Given the description of an element on the screen output the (x, y) to click on. 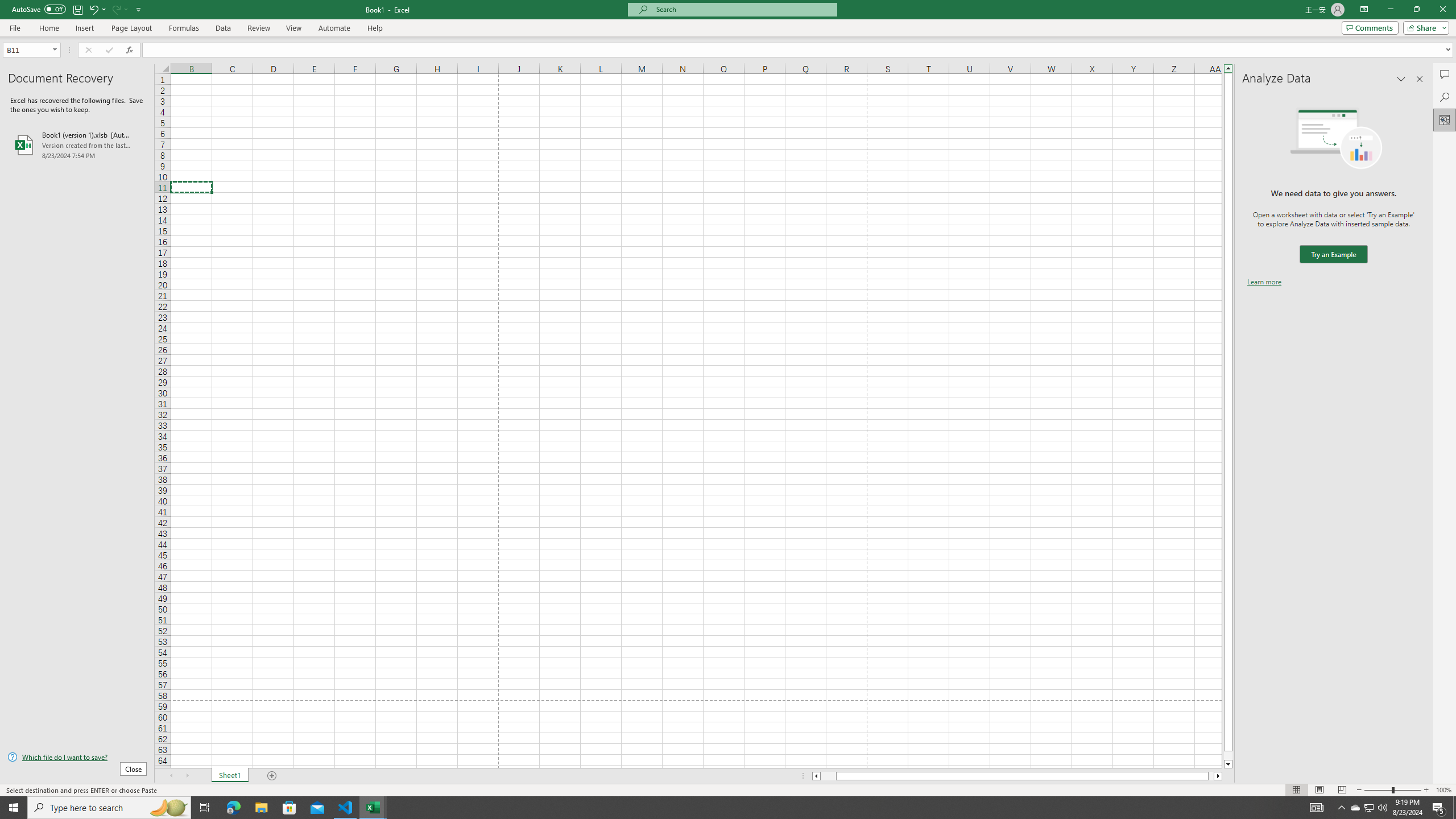
Page left (828, 775)
